Given the description of an element on the screen output the (x, y) to click on. 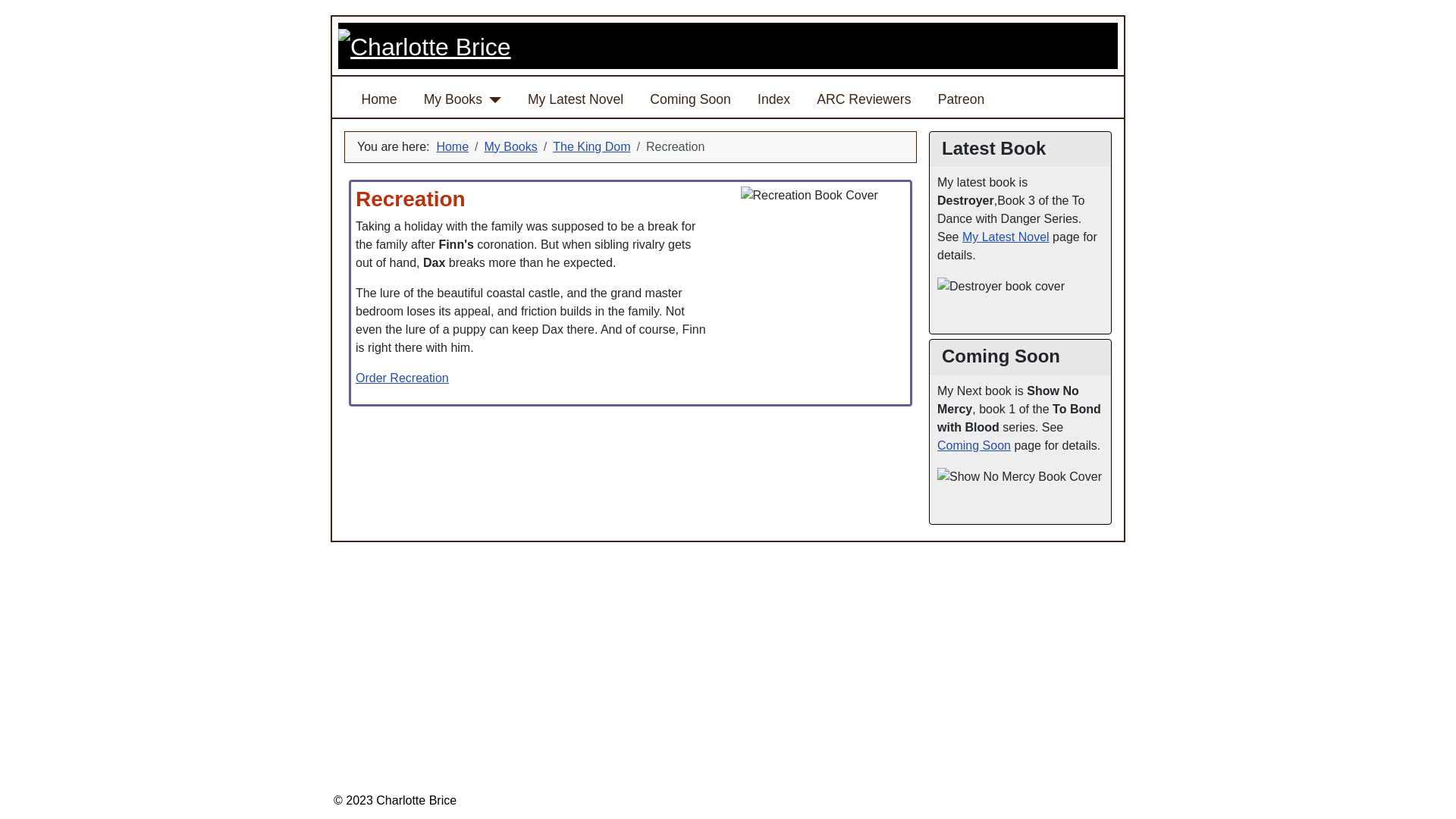
My Books (452, 98)
Order 'Recreation' (401, 377)
Link to the coming soon page (973, 445)
Home (379, 98)
